Given the description of an element on the screen output the (x, y) to click on. 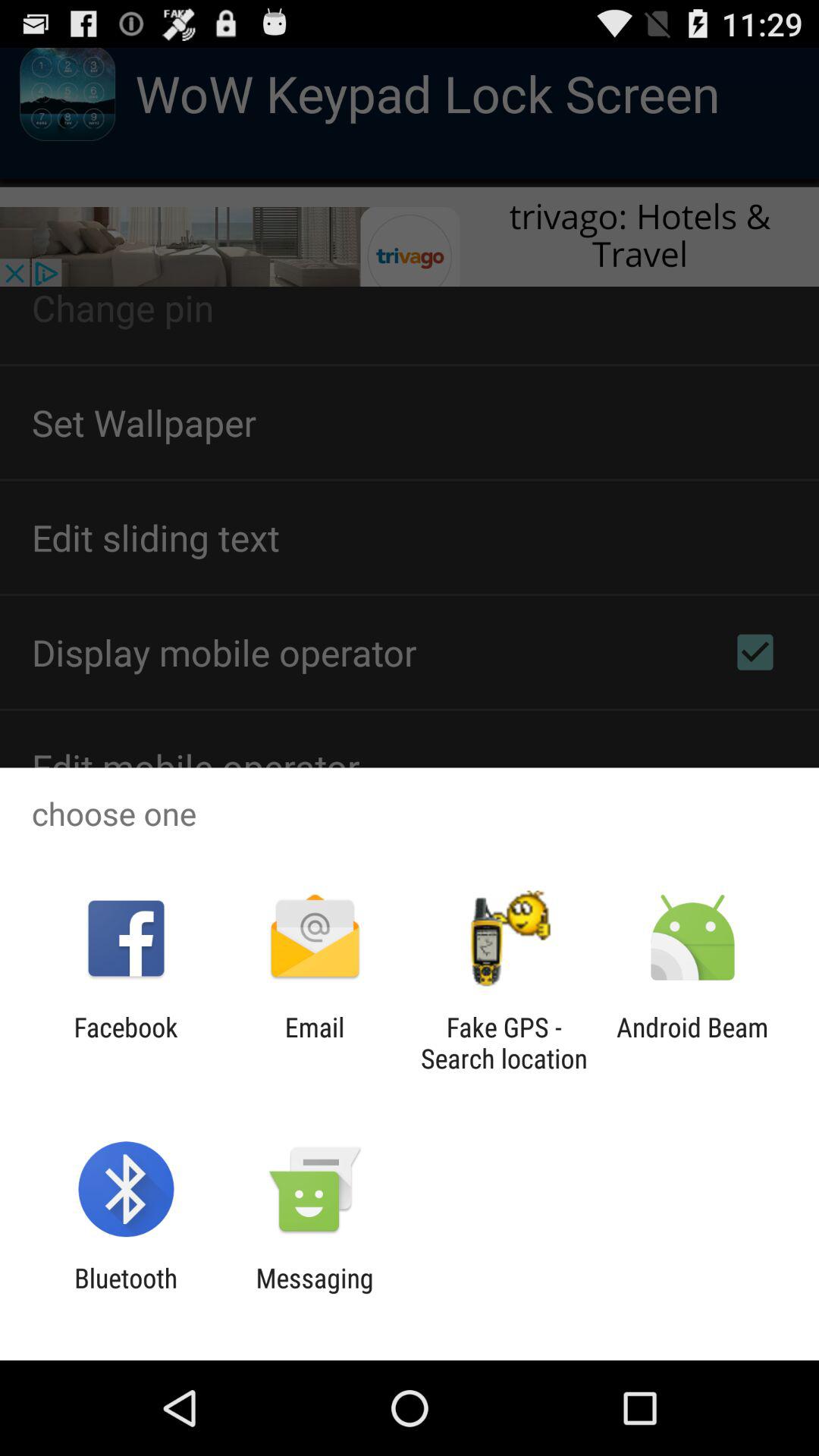
open the app next to facebook app (314, 1042)
